Given the description of an element on the screen output the (x, y) to click on. 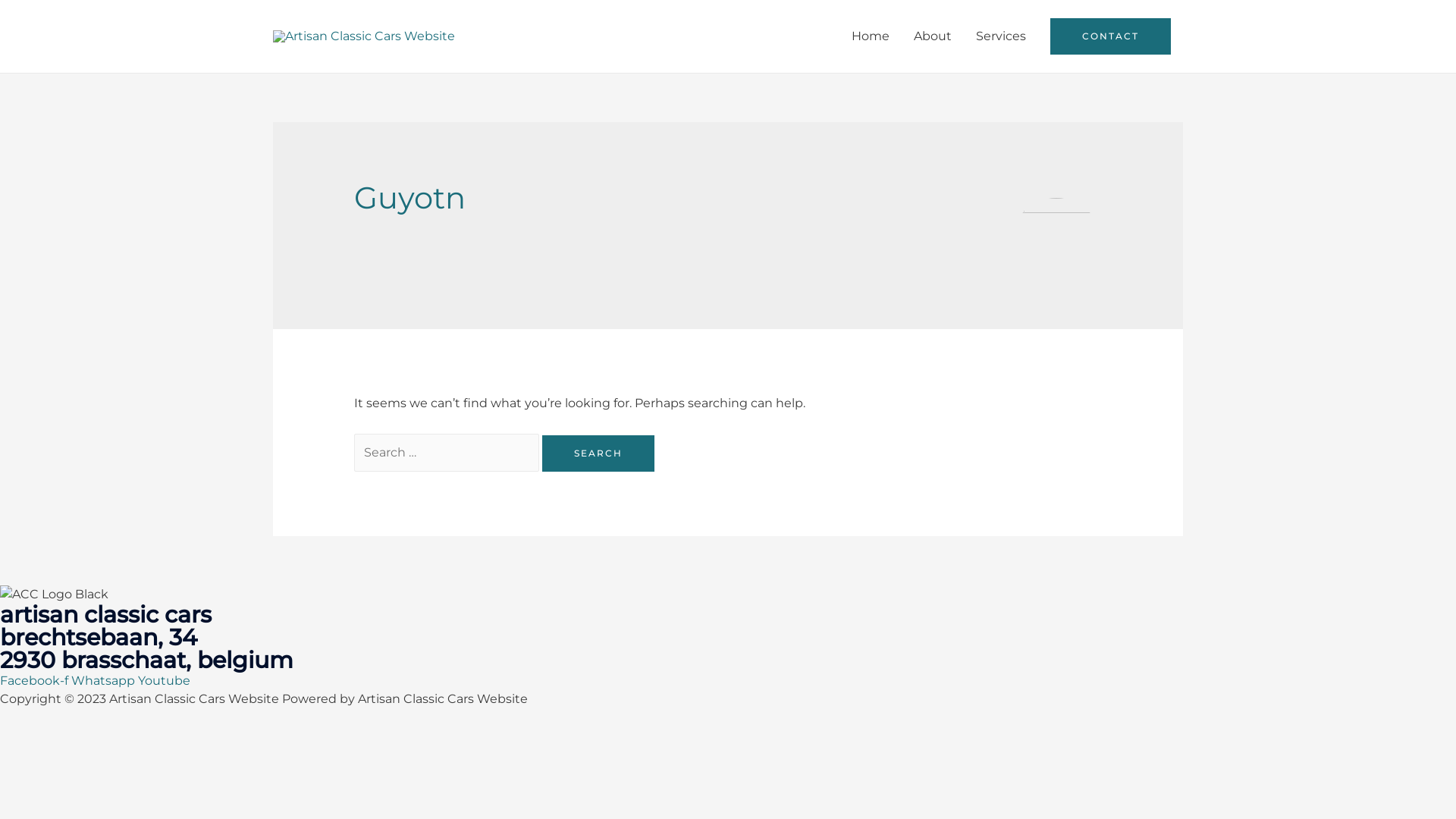
About Element type: text (932, 36)
CONTACT Element type: text (1110, 36)
Services Element type: text (1000, 36)
Whatsapp Element type: text (104, 680)
Home Element type: text (870, 36)
Search Element type: text (598, 453)
Facebook-f Element type: text (35, 680)
Youtube Element type: text (164, 680)
